Given the description of an element on the screen output the (x, y) to click on. 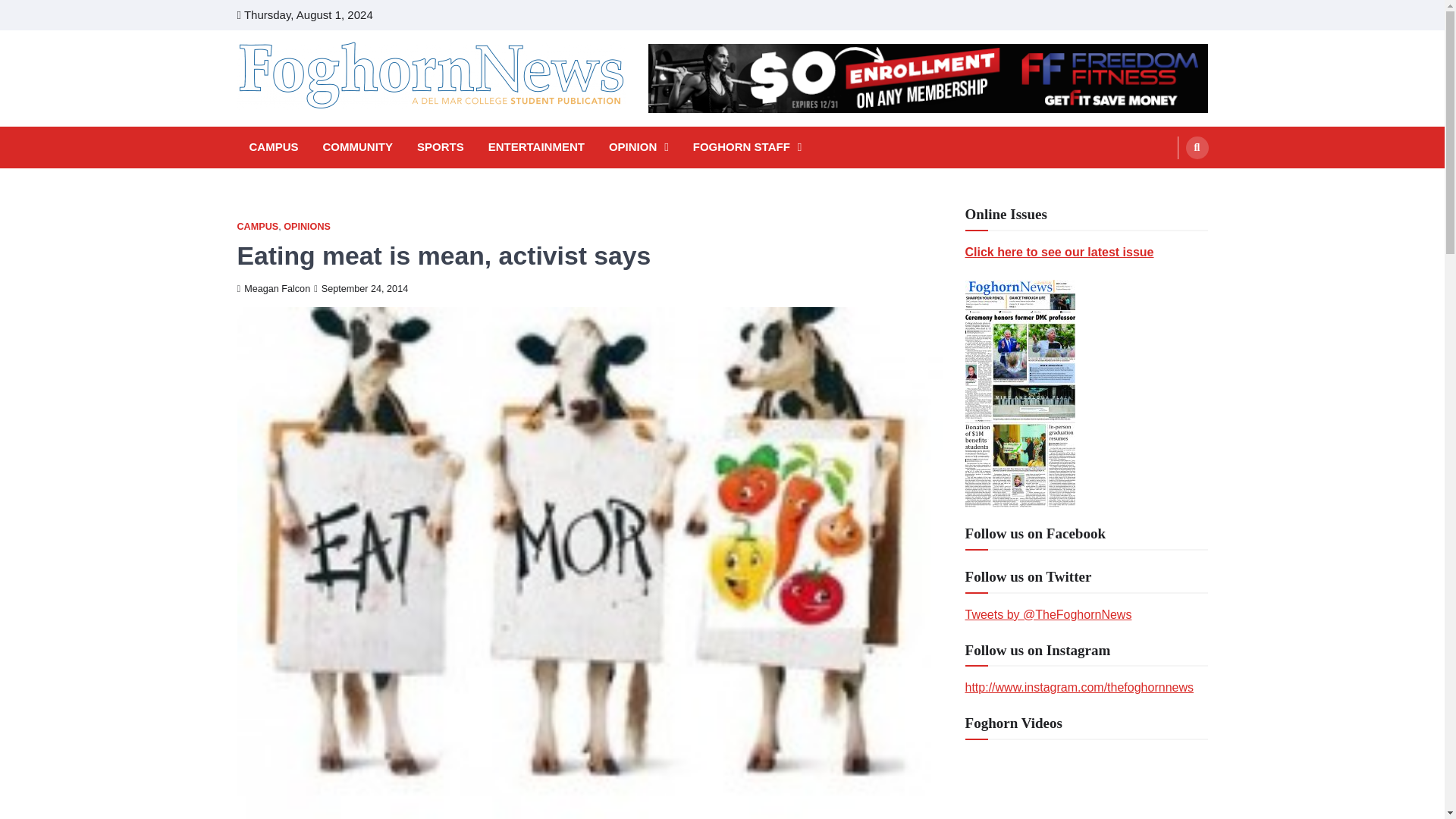
CAMPUS (256, 226)
Search (1168, 183)
FOGHORN STAFF (747, 147)
CAMPUS (273, 147)
Meagan Falcon (272, 288)
Search (1197, 147)
OPINIONS (306, 226)
SPORTS (440, 147)
OPINION (638, 147)
ENTERTAINMENT (536, 147)
